Given the description of an element on the screen output the (x, y) to click on. 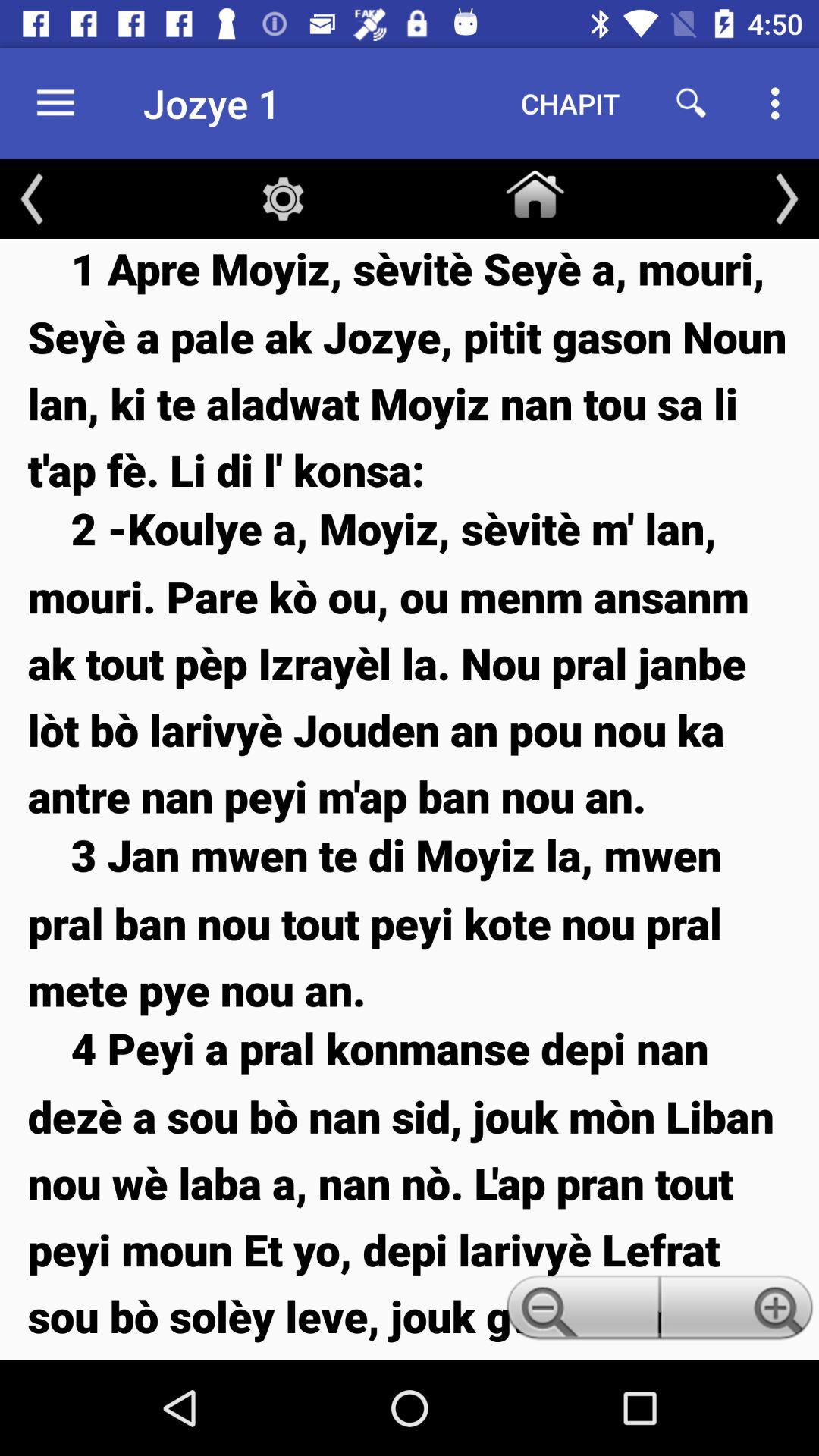
open icon below the 2 koulye a item (409, 921)
